Given the description of an element on the screen output the (x, y) to click on. 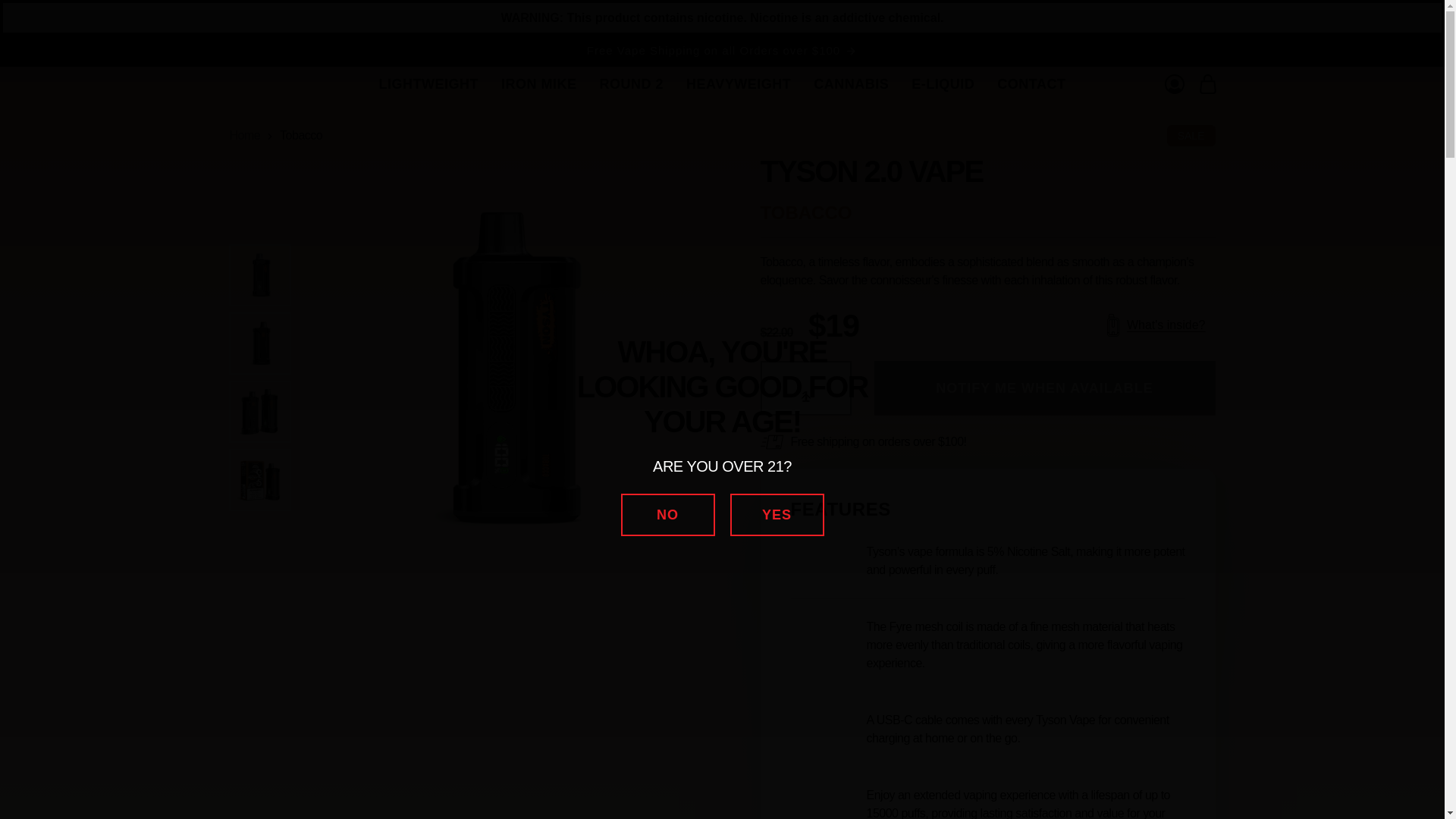
LIGHTWEIGHT (428, 84)
ROUND 2 (631, 84)
Log in (1174, 83)
Home (244, 134)
E-LIQUID (942, 84)
CANNABIS (850, 84)
Vape Tyson (229, 84)
Cart (1207, 83)
NO (667, 514)
YES (776, 514)
